Given the description of an element on the screen output the (x, y) to click on. 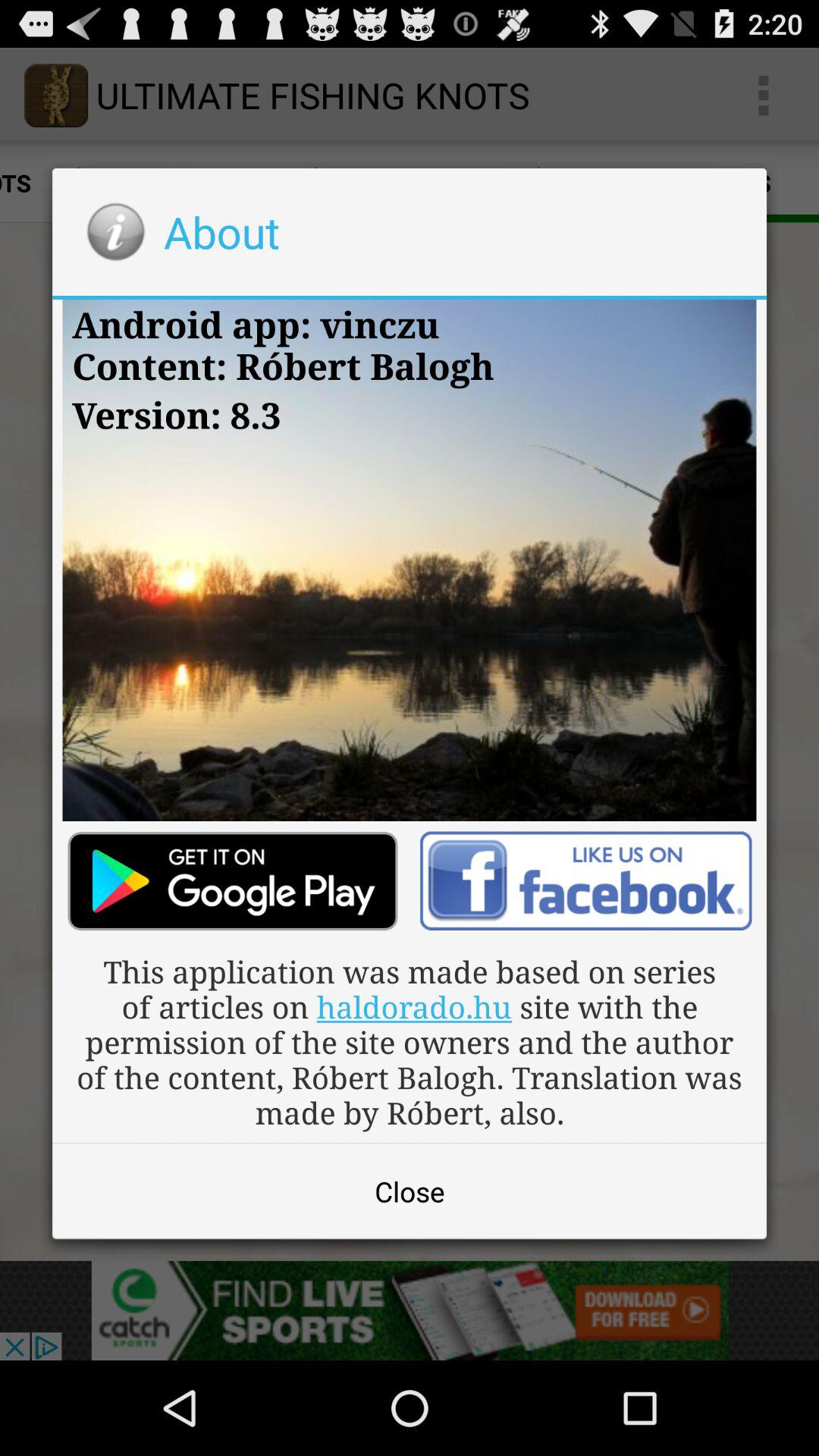
turn off this application was icon (409, 1041)
